Given the description of an element on the screen output the (x, y) to click on. 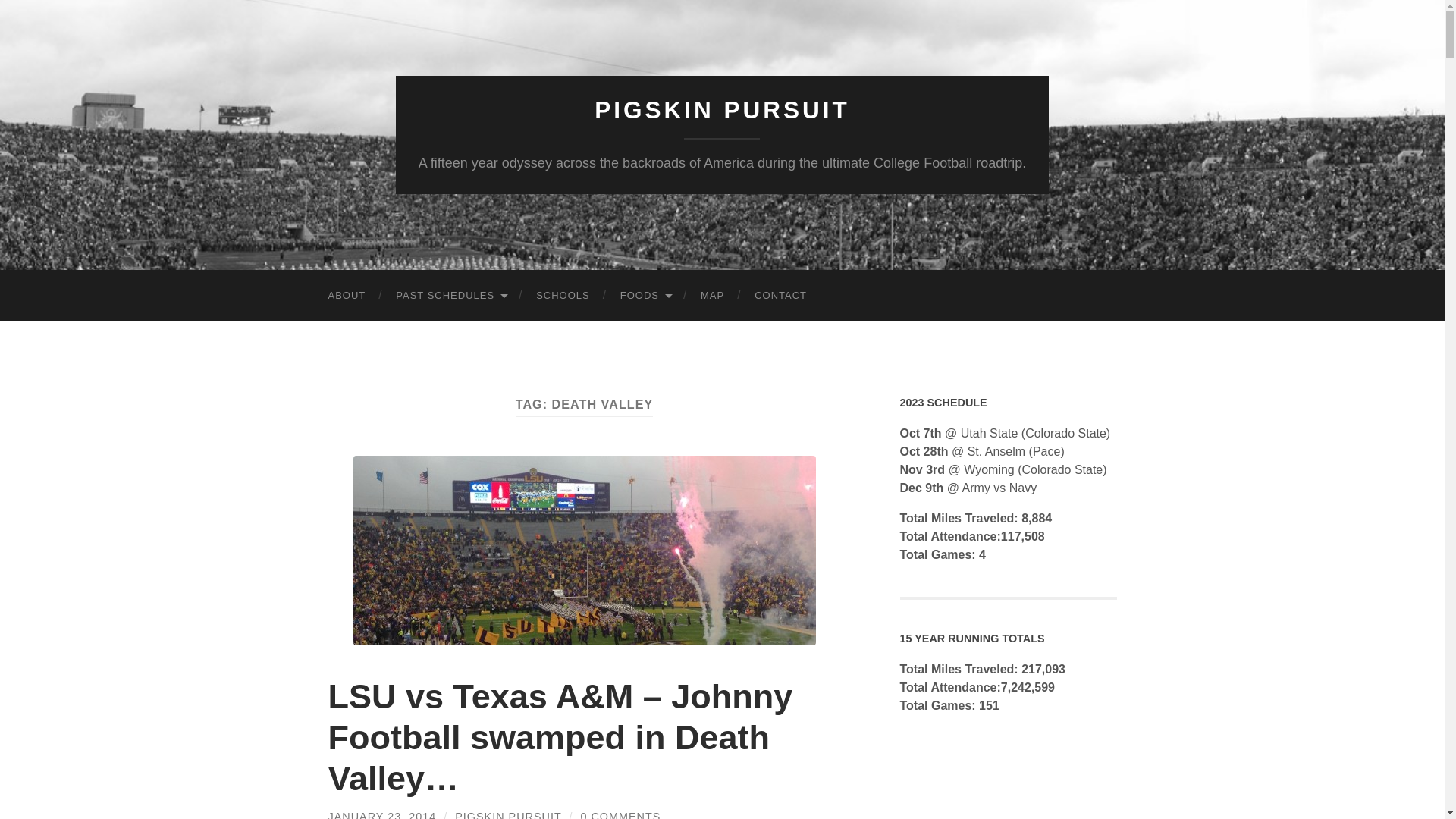
Posts by Pigskin Pursuit (507, 814)
PAST SCHEDULES (450, 295)
MAP (712, 295)
FOODS (645, 295)
CONTACT (780, 295)
ABOUT (346, 295)
SCHOOLS (563, 295)
PIGSKIN PURSUIT (722, 109)
